Given the description of an element on the screen output the (x, y) to click on. 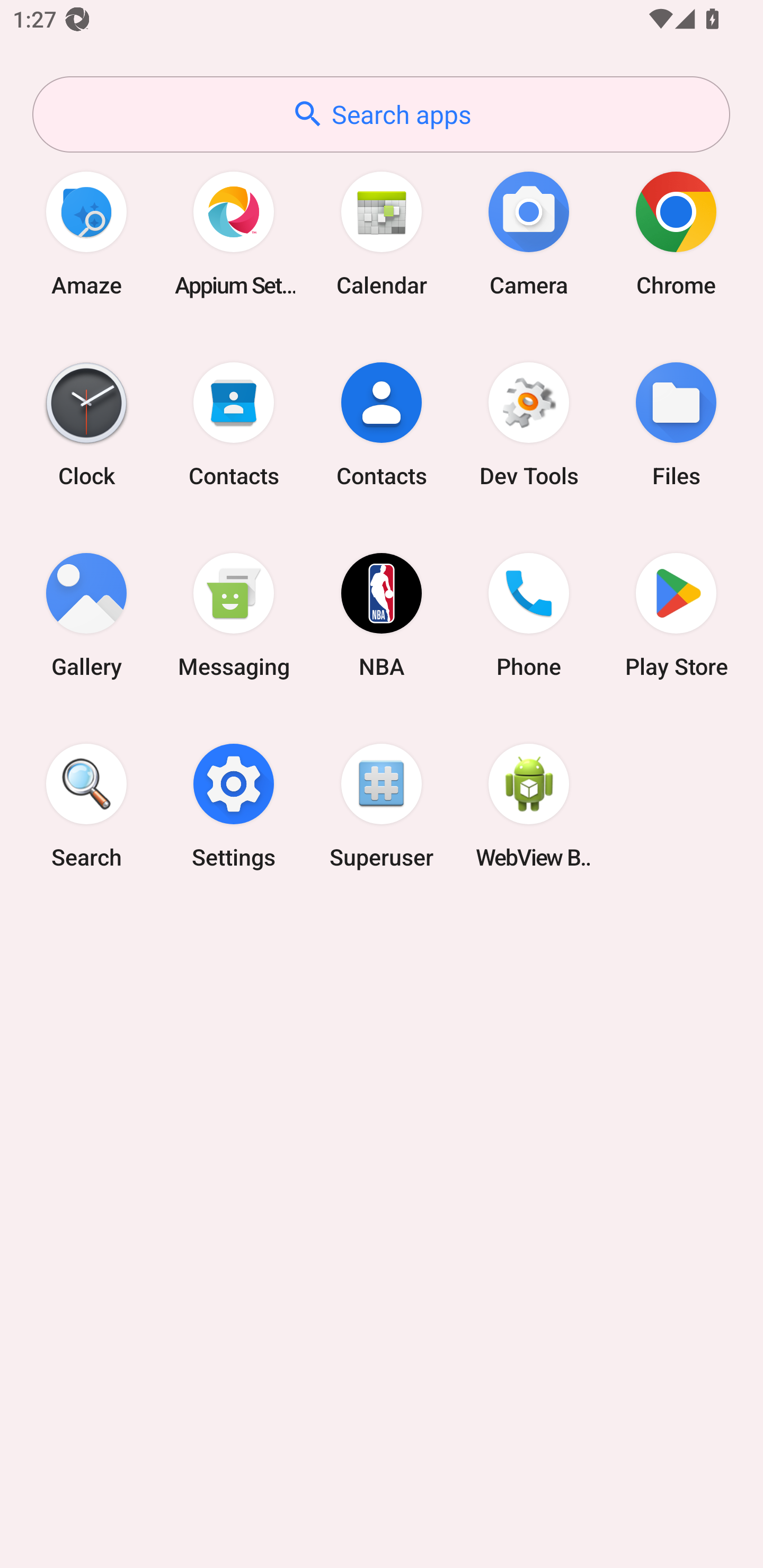
  Search apps (381, 114)
Amaze (86, 233)
Appium Settings (233, 233)
Calendar (381, 233)
Camera (528, 233)
Chrome (676, 233)
Clock (86, 424)
Contacts (233, 424)
Contacts (381, 424)
Dev Tools (528, 424)
Files (676, 424)
Gallery (86, 614)
Messaging (233, 614)
NBA (381, 614)
Phone (528, 614)
Play Store (676, 614)
Search (86, 805)
Settings (233, 805)
Superuser (381, 805)
WebView Browser Tester (528, 805)
